Given the description of an element on the screen output the (x, y) to click on. 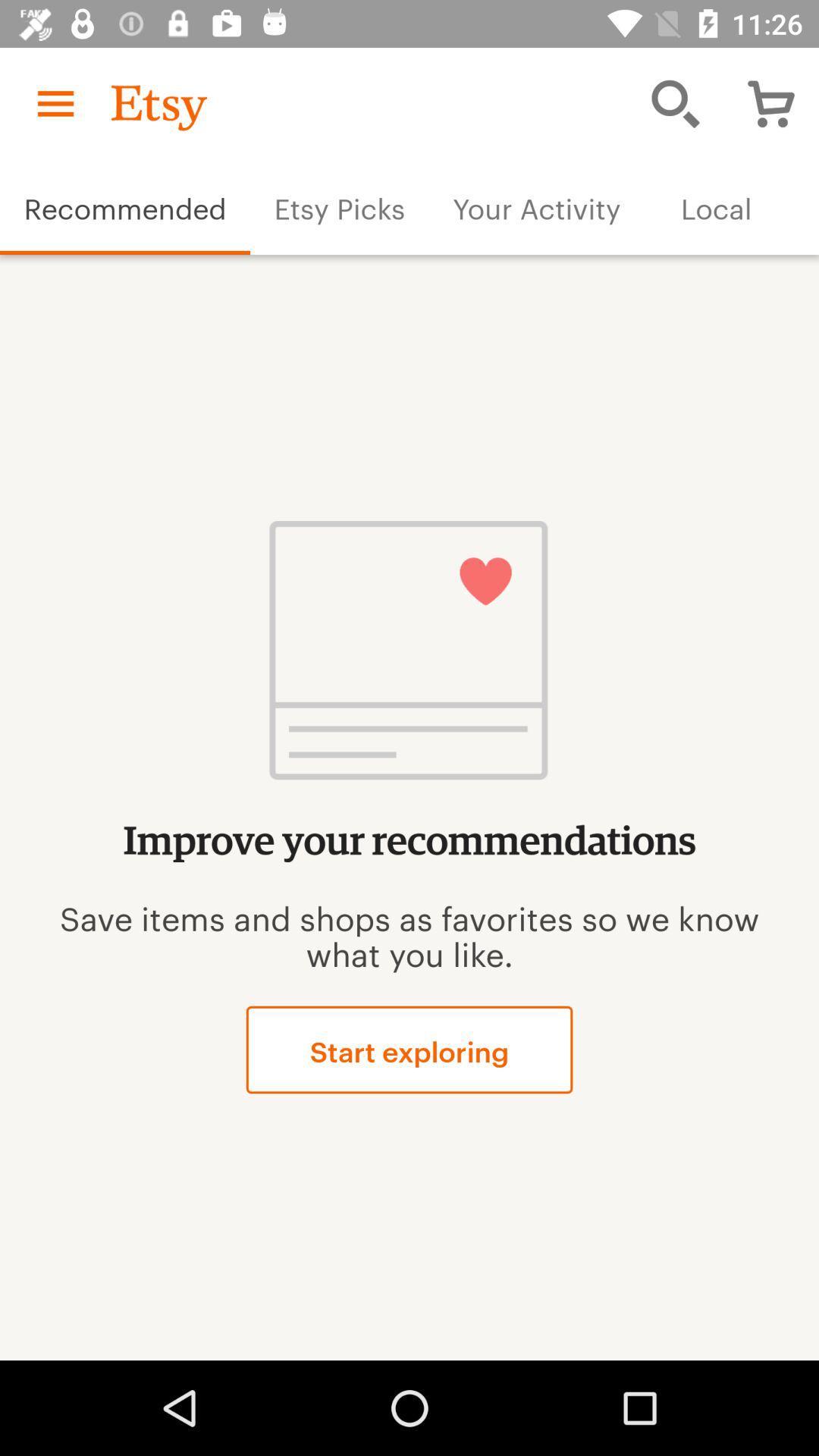
select icon below the save items and item (409, 1049)
